Given the description of an element on the screen output the (x, y) to click on. 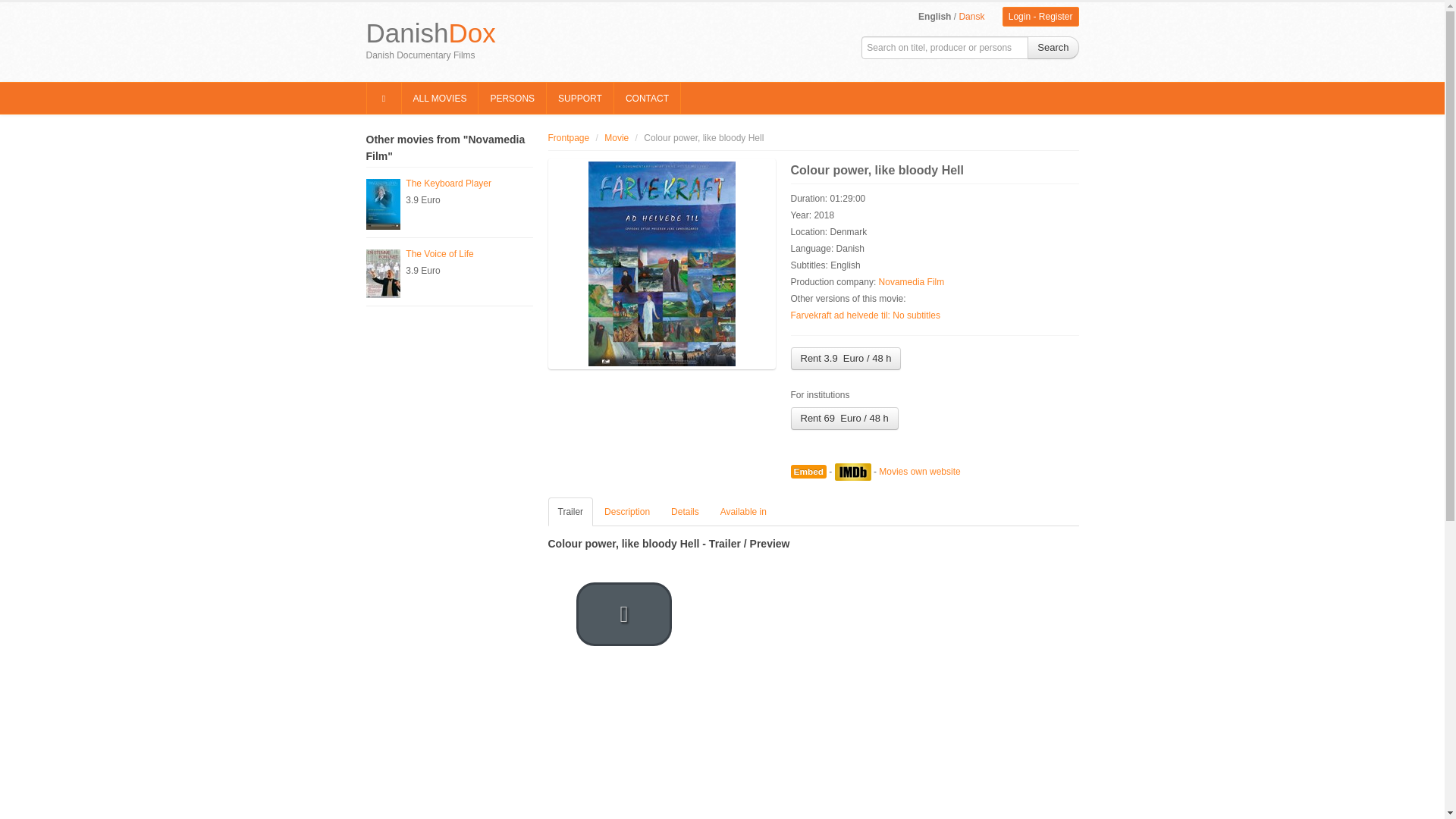
Frontpage (568, 137)
Farvekraft ad helvede til: No subtitles (864, 315)
Novamedia Film (911, 281)
Movies own website (919, 471)
Dansk (971, 16)
Login (1019, 16)
Register (1056, 16)
Trailer (569, 511)
The Voice of Life (439, 253)
Movie (616, 137)
